Given the description of an element on the screen output the (x, y) to click on. 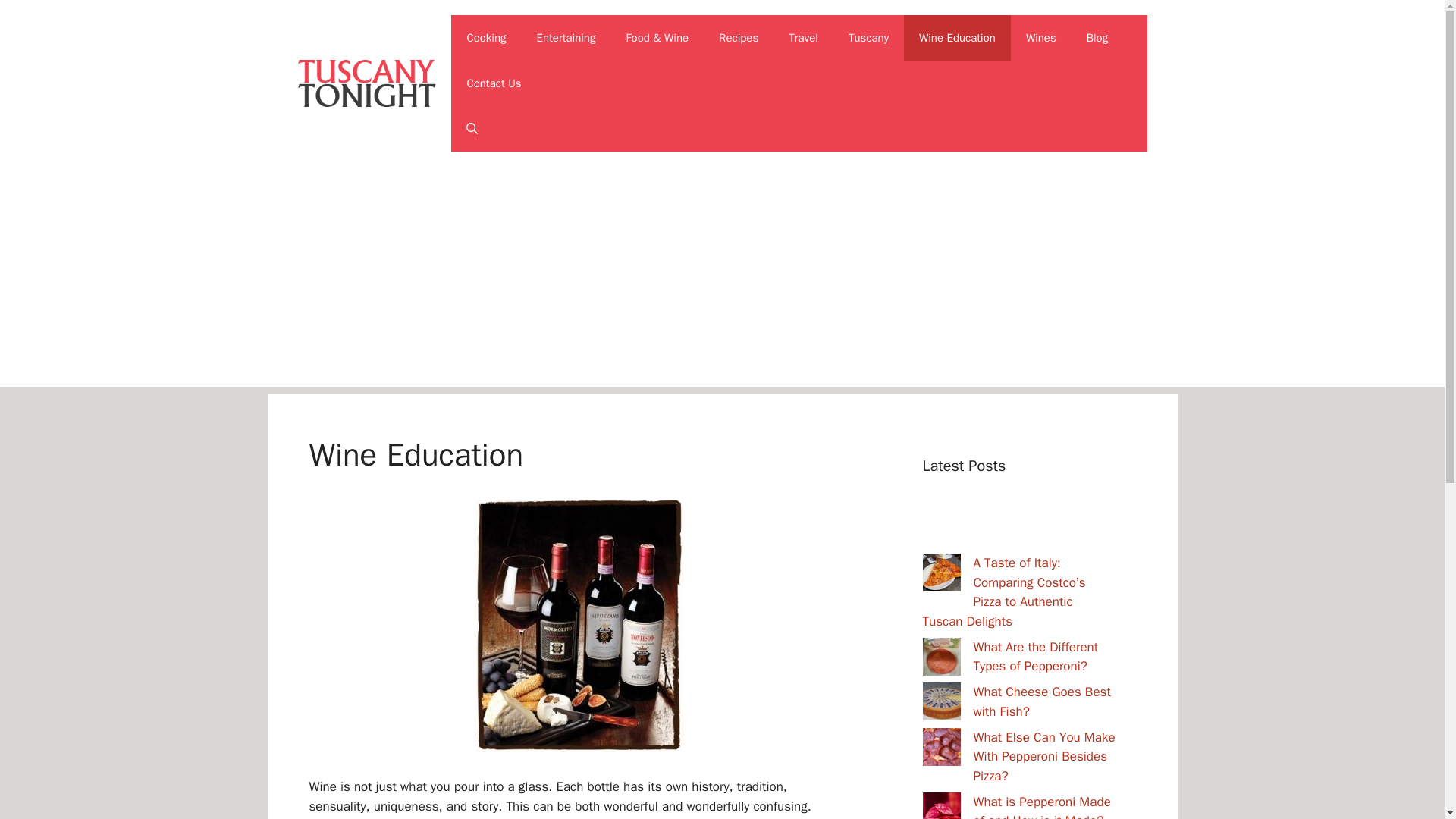
Tuscany (868, 37)
Cooking (486, 37)
What Else Can You Make With Pepperoni Besides Pizza? (1044, 756)
Blog (1096, 37)
Wines (1040, 37)
Travel (802, 37)
What Are the Different Types of Pepperoni? (1036, 656)
Recipes (738, 37)
Entertaining (566, 37)
